Given the description of an element on the screen output the (x, y) to click on. 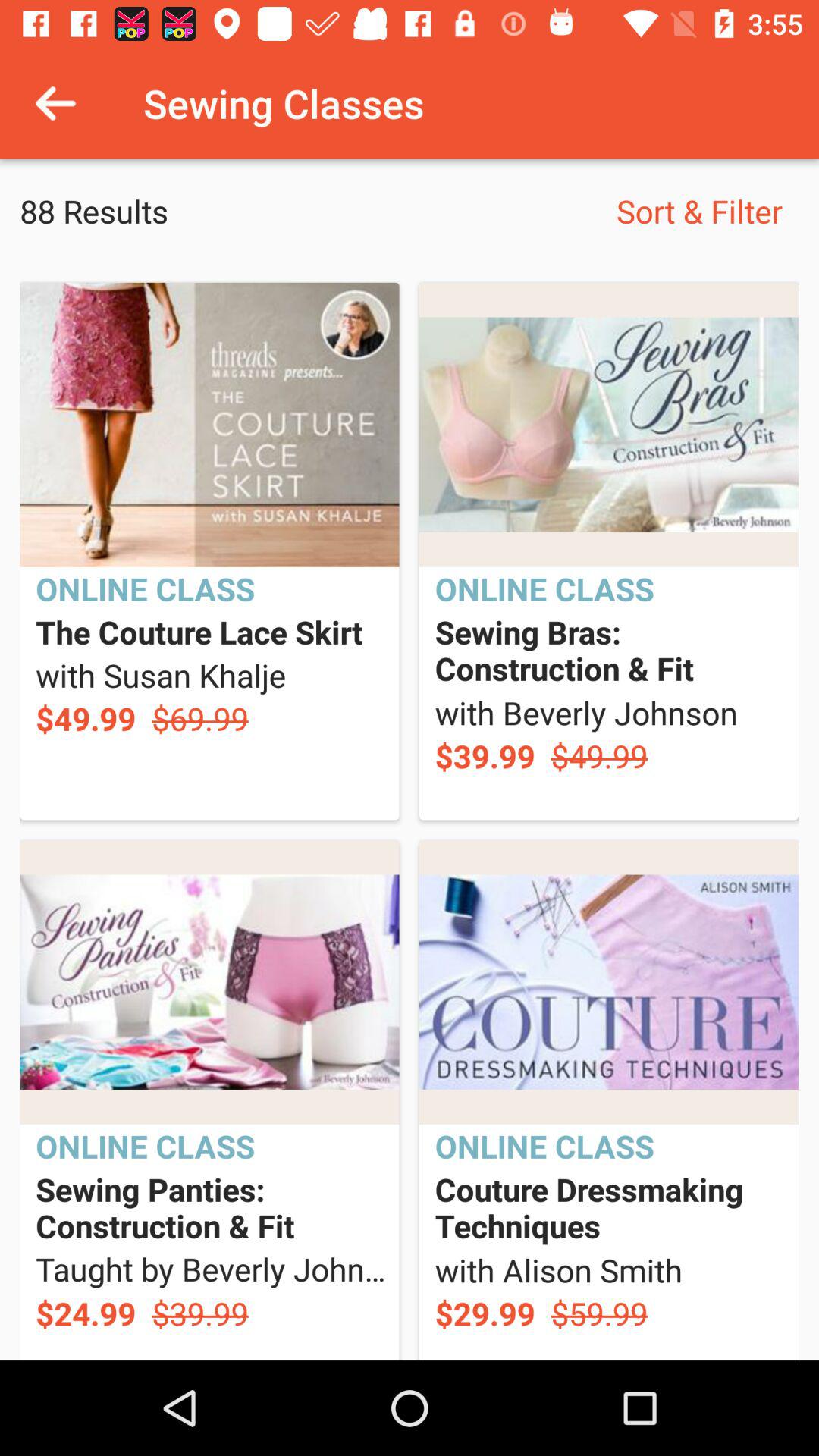
choose item next to the sewing classes item (55, 103)
